Given the description of an element on the screen output the (x, y) to click on. 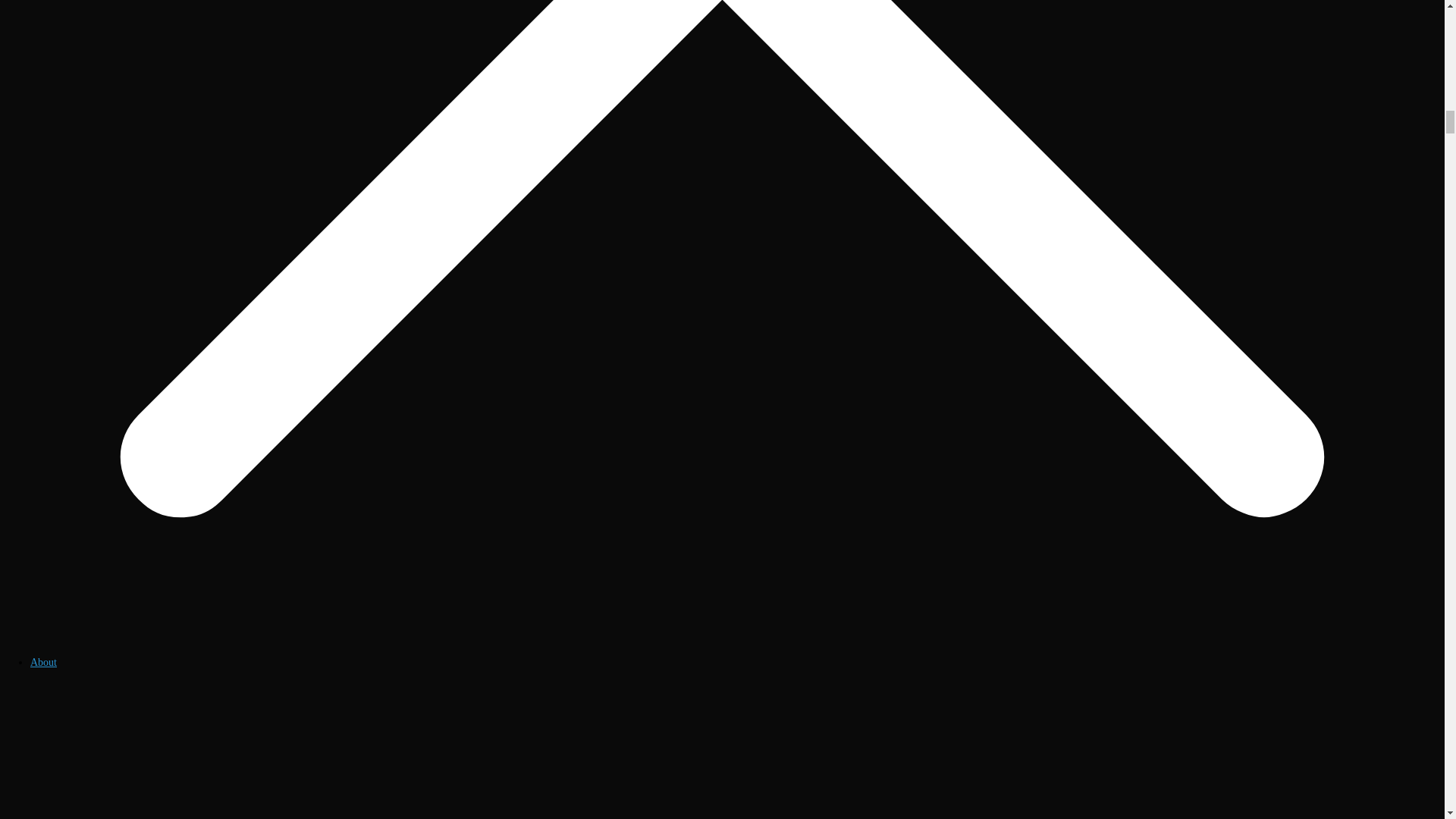
About (43, 662)
